Given the description of an element on the screen output the (x, y) to click on. 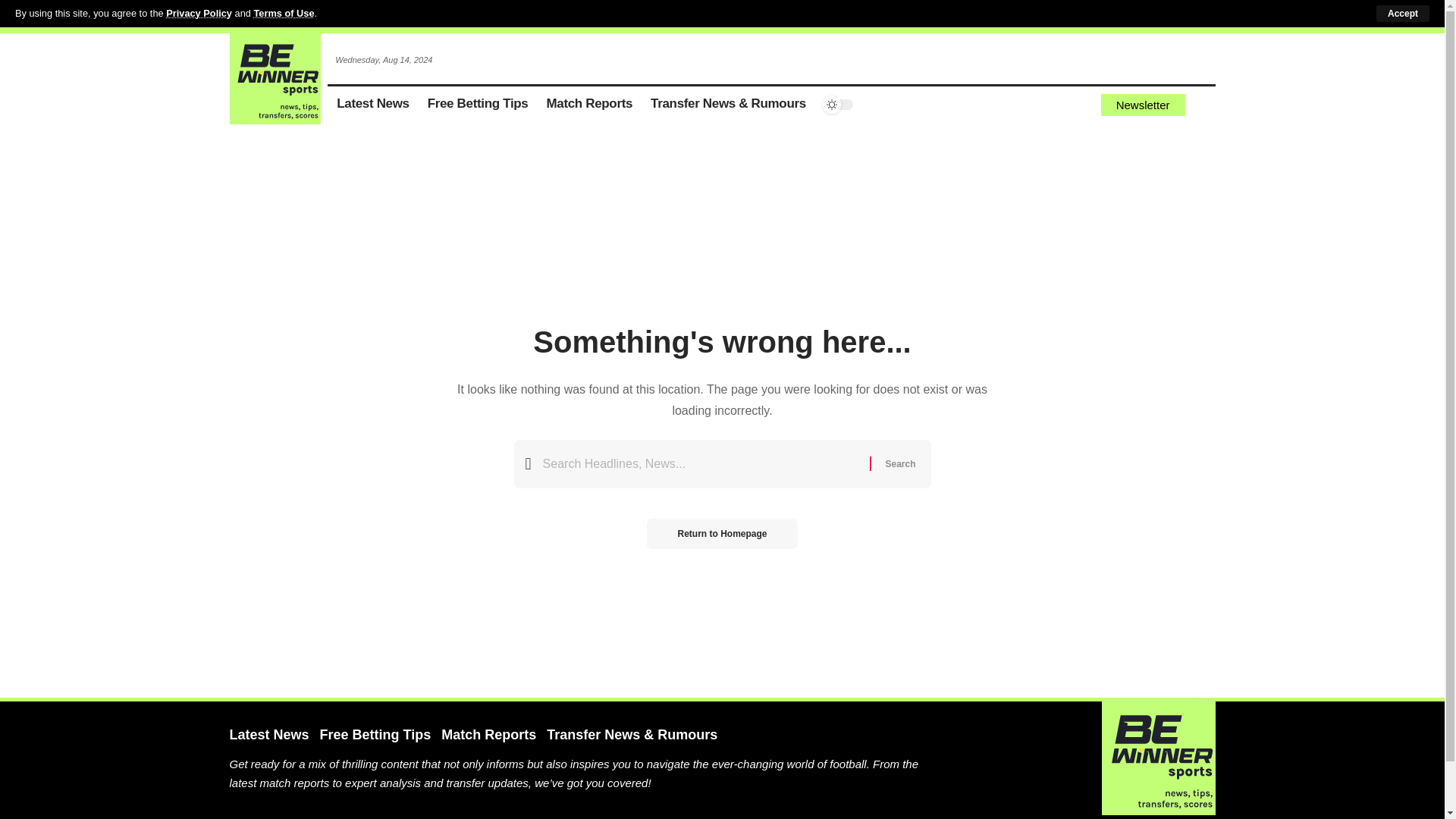
Free Betting Tips (478, 104)
Accept (1402, 13)
Terms of Use (283, 12)
Match Reports (589, 104)
Privacy Policy (198, 12)
Newsletter (1142, 105)
Search (899, 463)
Latest News (372, 104)
